Given the description of an element on the screen output the (x, y) to click on. 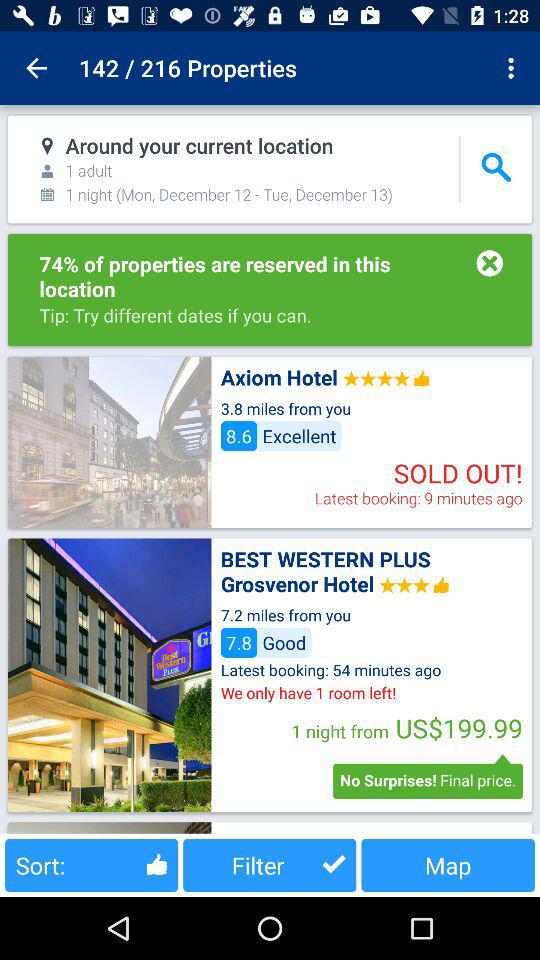
select the item next to sort: (269, 864)
